Given the description of an element on the screen output the (x, y) to click on. 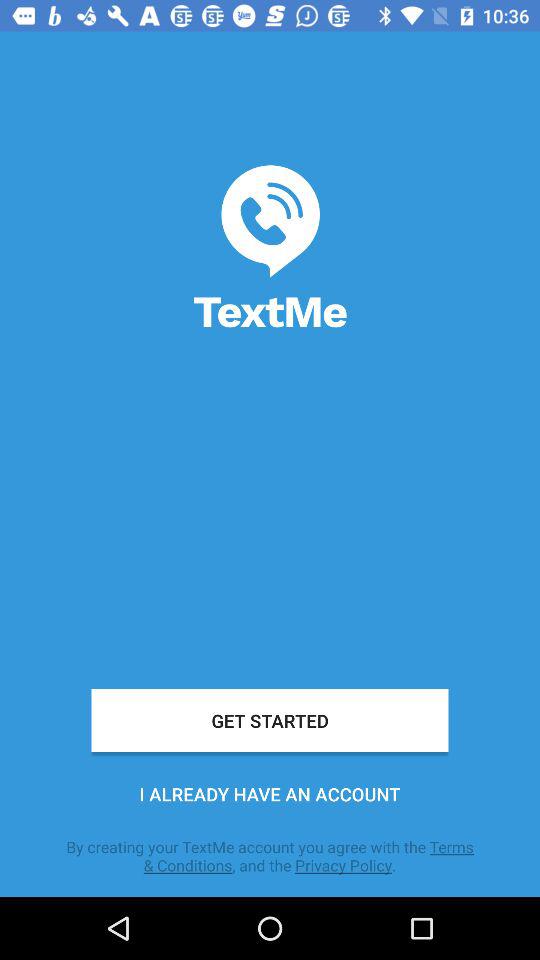
select the icon below i already have item (270, 856)
